Given the description of an element on the screen output the (x, y) to click on. 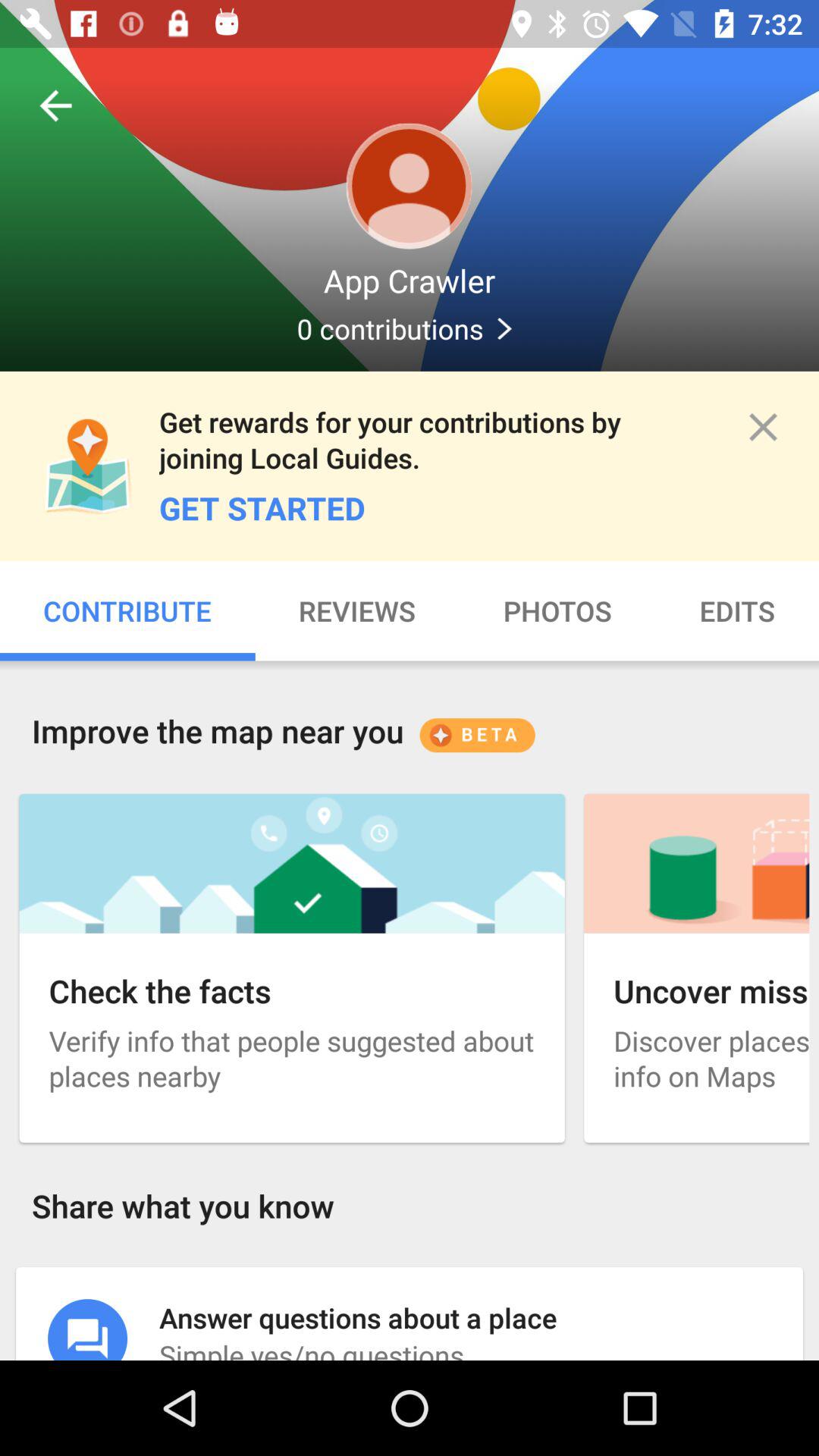
launch the icon to the right of contribute (357, 610)
